Given the description of an element on the screen output the (x, y) to click on. 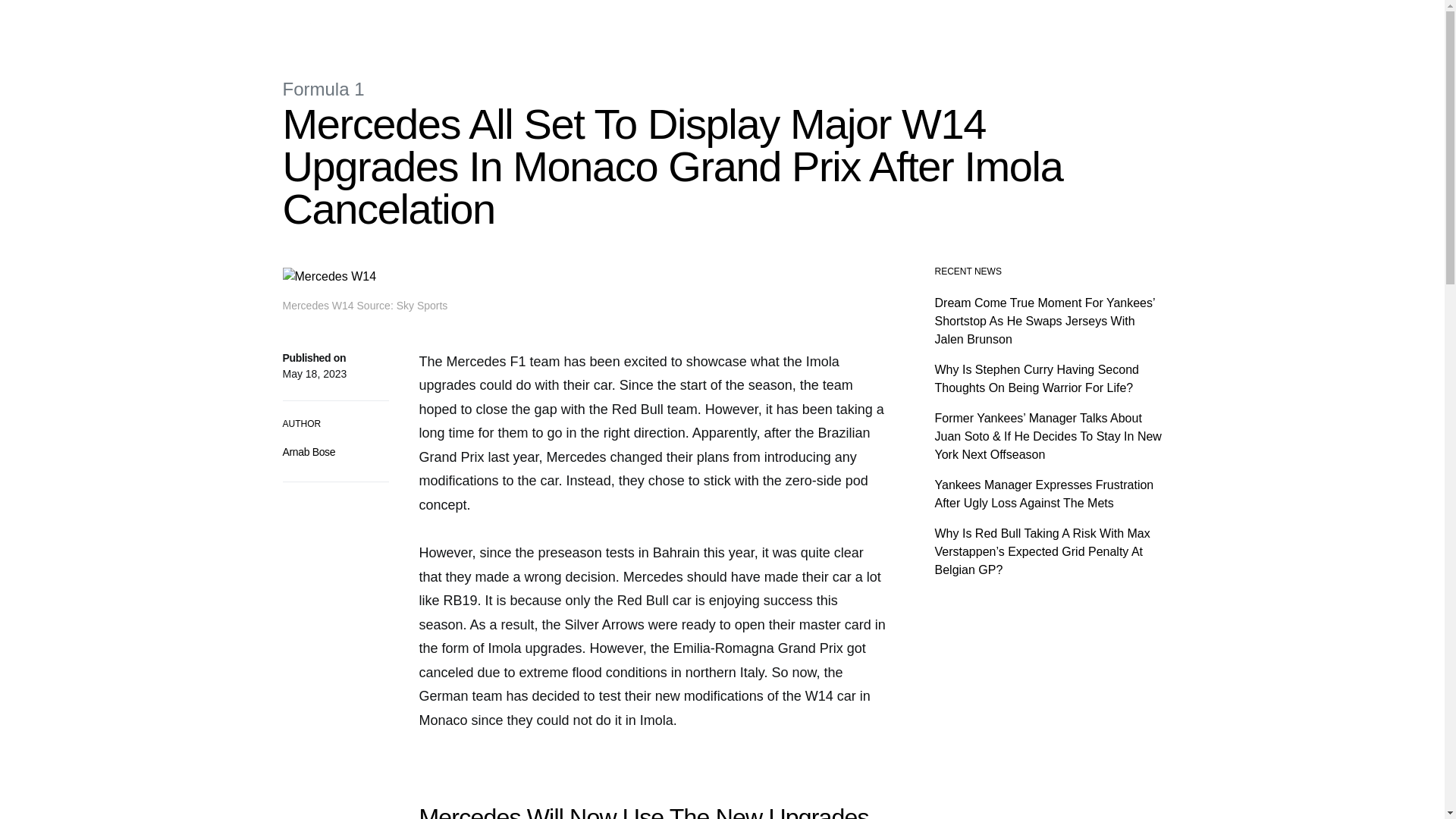
Yankees (559, 22)
Formula 1 (323, 88)
Arnab Bose (308, 451)
Formula 1 (432, 22)
Football (613, 22)
